Given the description of an element on the screen output the (x, y) to click on. 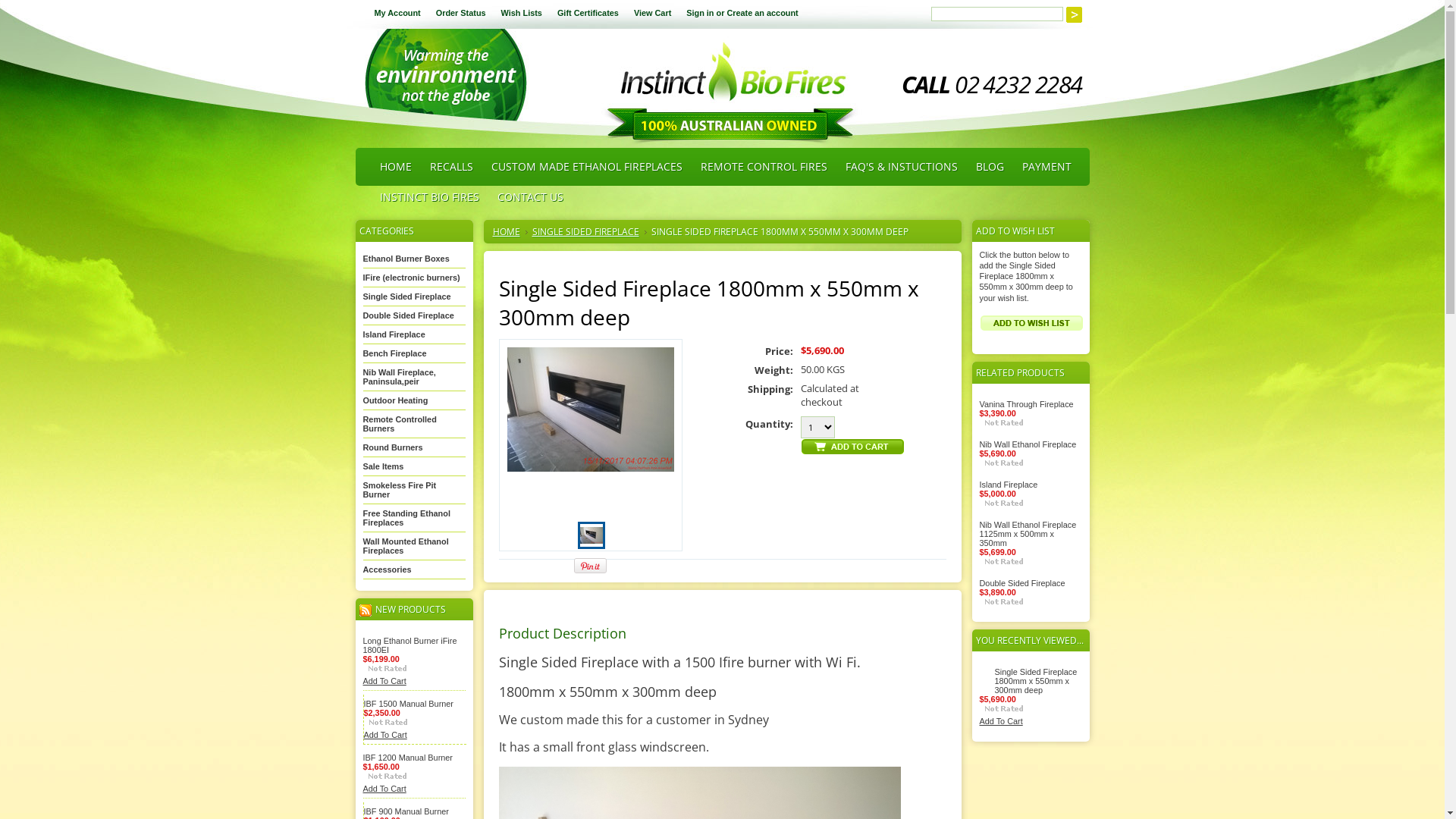
260 Element type: text (4, 4)
Island Fireplace Element type: text (393, 333)
New Products RSS Feed Element type: hover (365, 610)
PAYMENT Element type: text (1046, 166)
IBF 1500 Manual Burner Element type: text (408, 703)
Outdoor Heating Element type: text (394, 399)
Single Sided Fireplace 1800mm x 550mm x 300mm deep Element type: text (1035, 680)
CONTACT US Element type: text (530, 197)
HOME Element type: text (509, 231)
IBF 1200 Manual Burner Element type: text (406, 757)
SINGLE SIDED FIREPLACE Element type: text (589, 231)
Round Burners Element type: text (392, 446)
Add To Cart Element type: text (383, 788)
IBF 900 Manual Burner Element type: text (406, 810)
Create an account Element type: text (761, 12)
Vanina Through Fireplace Element type: text (1026, 403)
Add To Cart Element type: text (385, 734)
Free Standing Ethanol Fireplaces Element type: text (405, 517)
Nib Wall Ethanol Fireplace Element type: text (1027, 443)
Image 1 Element type: hover (589, 409)
Remote Controlled Burners Element type: text (399, 423)
Bench Fireplace Element type: text (394, 352)
Sale Items Element type: text (382, 465)
CUSTOM MADE ETHANOL FIREPLACES Element type: text (586, 166)
Wall Mounted Ethanol Fireplaces Element type: text (405, 545)
FAQ'S & INSTUCTIONS Element type: text (900, 166)
Add To Cart Element type: text (1000, 720)
Double Sided Fireplace Element type: text (407, 315)
Add To Cart Element type: text (383, 680)
Nib Wall Ethanol Fireplace 1125mm x 500mm x 350mm Element type: text (1027, 533)
0 Element type: text (591, 535)
Smokeless Fire Pit Burner Element type: text (399, 489)
RECALLS Element type: text (450, 166)
HOME Element type: text (395, 166)
Sign in Element type: text (699, 12)
Ethanol Burner Boxes Element type: text (405, 258)
INSTINCT BIO FIRES Element type: text (428, 197)
Island Fireplace Element type: text (1008, 484)
Double Sided Fireplace Element type: text (1022, 582)
Single Sided Fireplace Element type: text (406, 296)
REMOTE CONTROL FIRES Element type: text (763, 166)
Nib Wall Fireplace, Paninsula,peir Element type: text (398, 376)
IFire (electronic burners) Element type: text (410, 277)
Long Ethanol Burner iFire 1800EI Element type: text (409, 645)
BLOG Element type: text (989, 166)
Accessories Element type: text (386, 569)
Image 1 Element type: hover (590, 533)
